Given the description of an element on the screen output the (x, y) to click on. 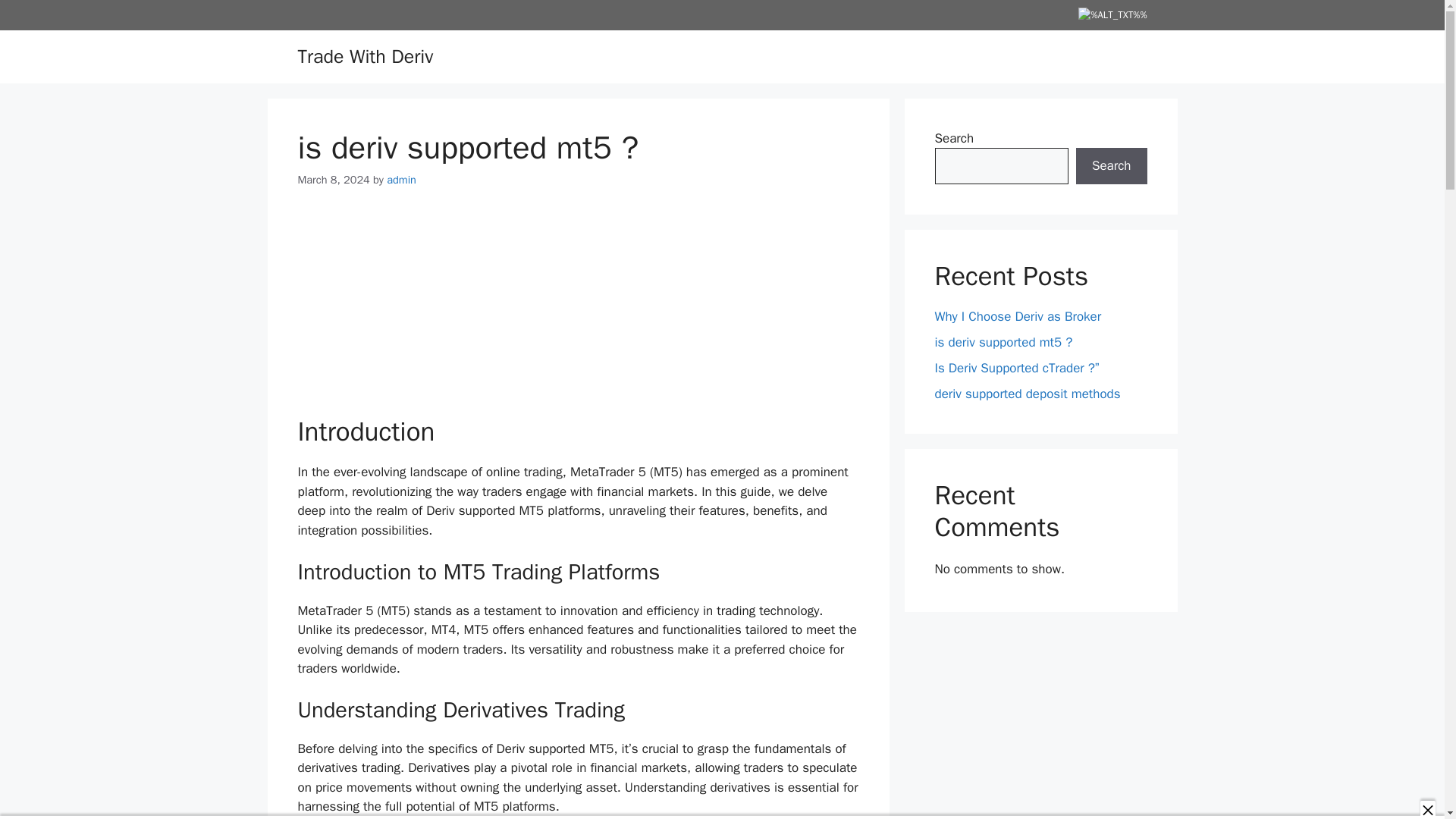
deriv supported deposit methods (1026, 392)
is deriv supported mt5 ? (1002, 341)
Trade With Deriv (364, 55)
admin (401, 179)
Why I Choose Deriv as Broker (1017, 315)
Search (1111, 166)
View all posts by admin (401, 179)
